Given the description of an element on the screen output the (x, y) to click on. 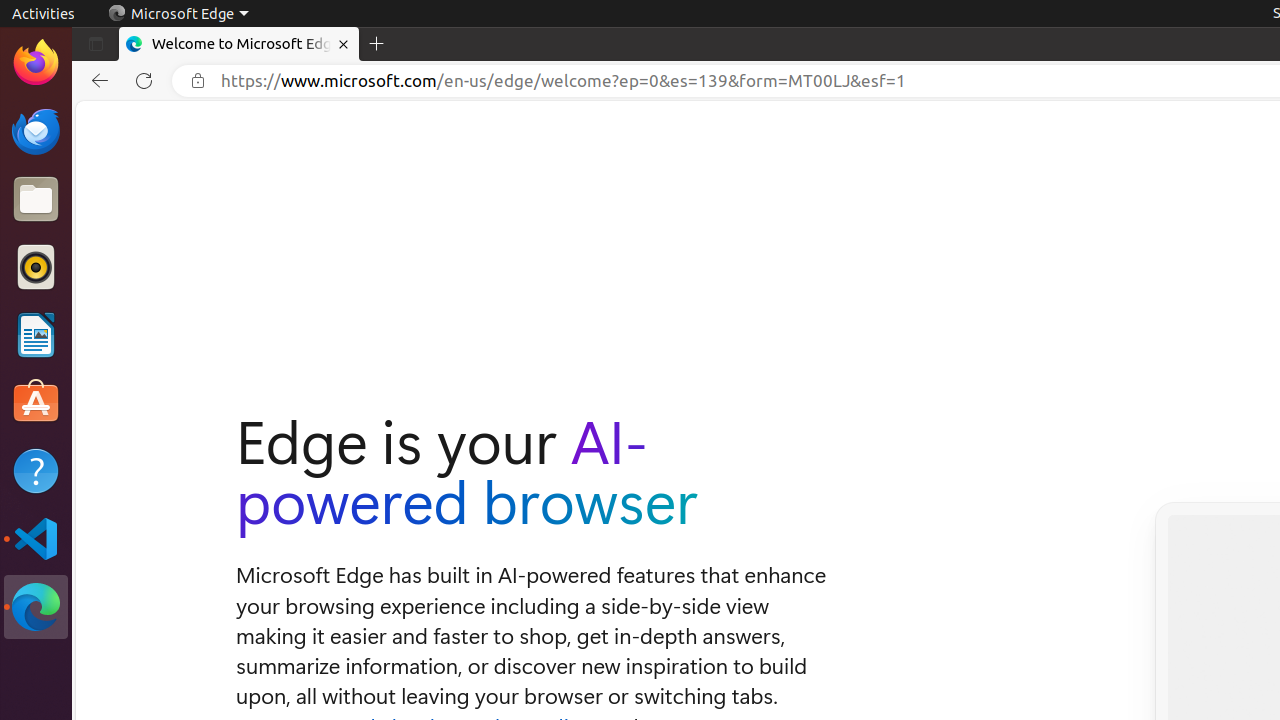
View site information Element type: push-button (198, 81)
Visual Studio Code Element type: push-button (36, 538)
LibreOffice Writer Element type: push-button (36, 334)
Firefox Web Browser Element type: push-button (36, 63)
Microsoft Edge Element type: push-button (36, 607)
